Given the description of an element on the screen output the (x, y) to click on. 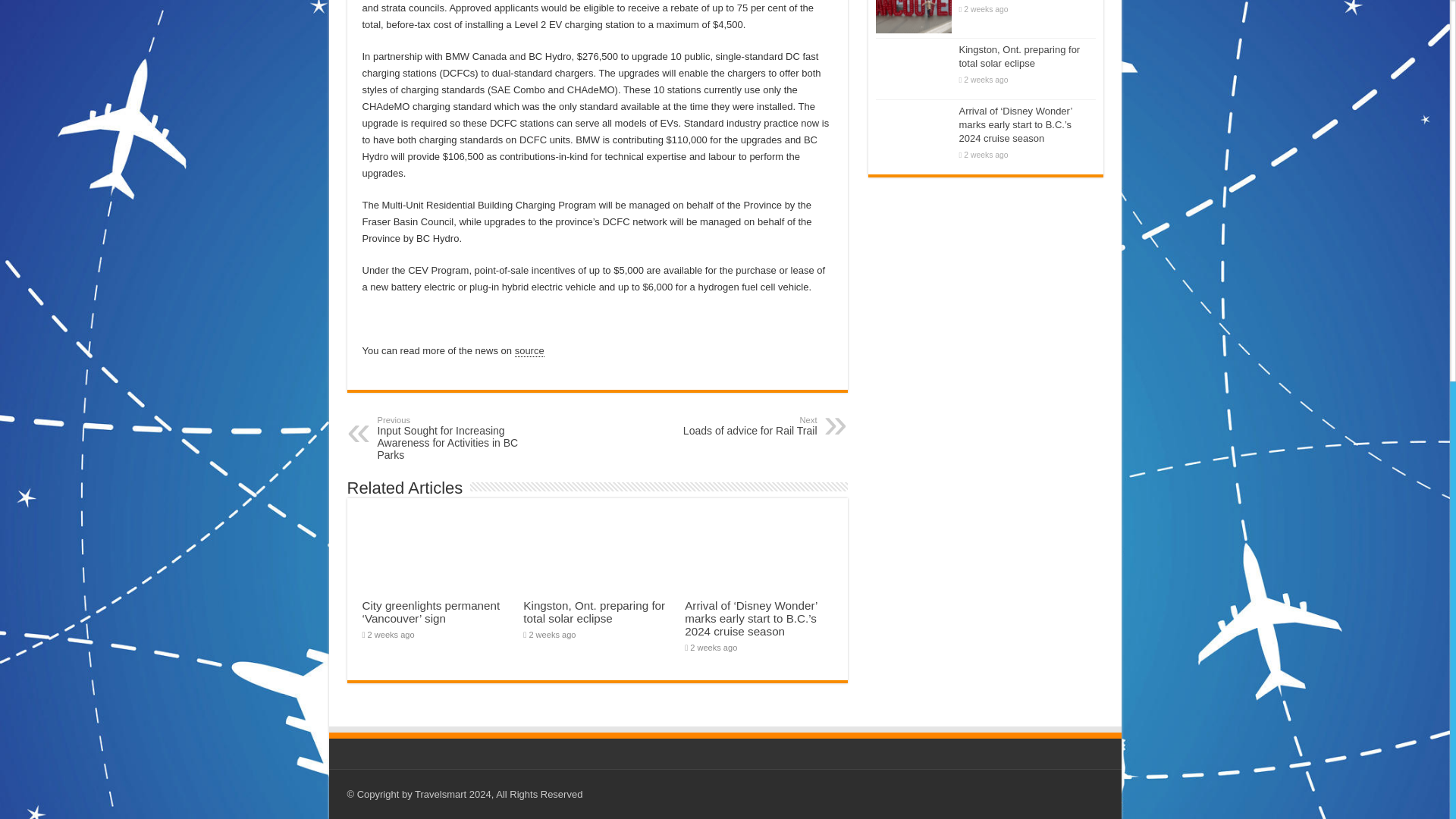
source (529, 350)
Kingston, Ont. preparing for total solar eclipse (738, 425)
Scroll To Top (593, 611)
